Given the description of an element on the screen output the (x, y) to click on. 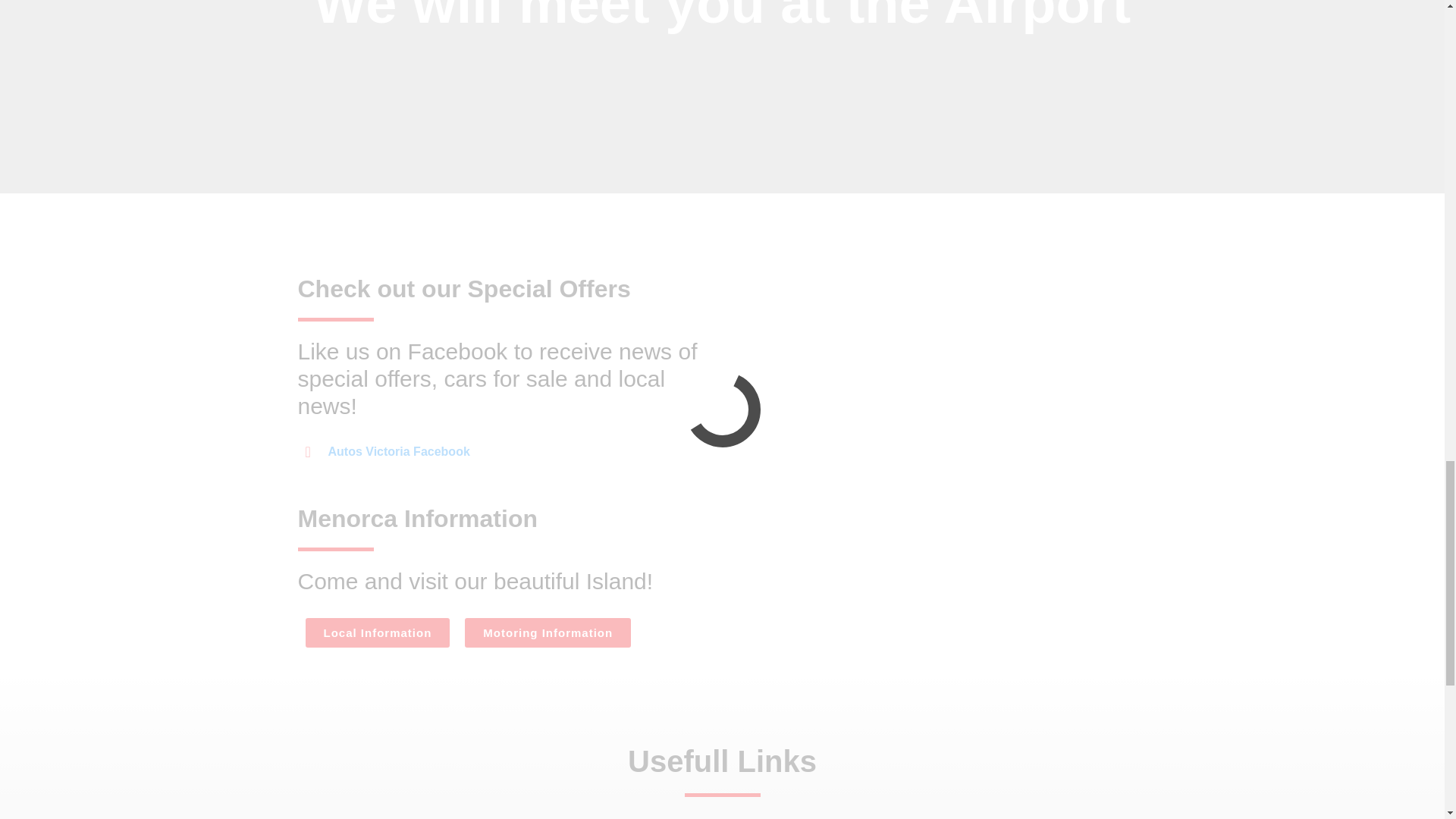
Motoring Information (547, 632)
Local Information (376, 632)
Autos Victoria Facebook (386, 452)
